Given the description of an element on the screen output the (x, y) to click on. 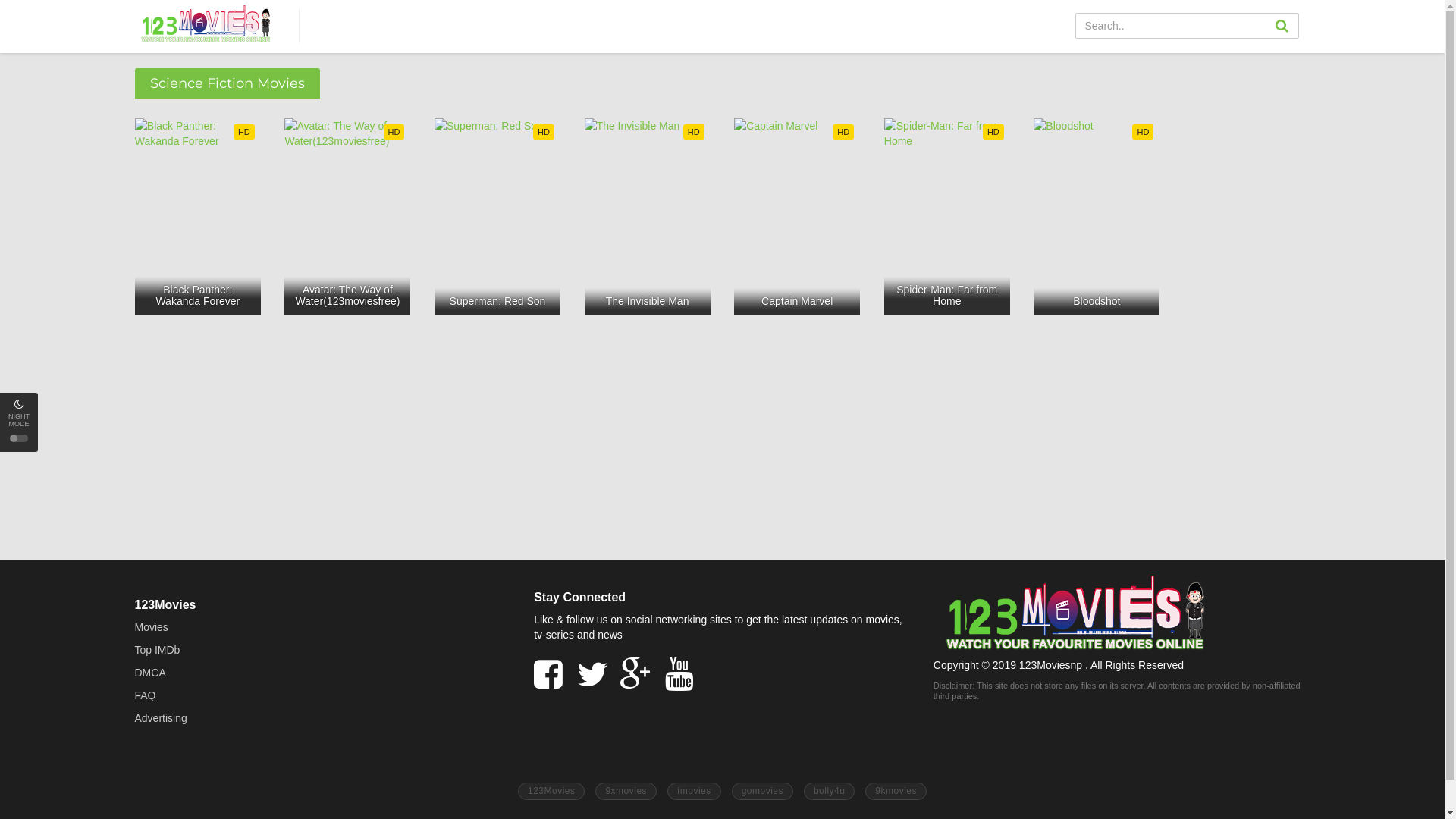
HD
Superman: Red Son Element type: text (497, 216)
123moviesnp Element type: hover (205, 23)
HD
Bloodshot Element type: text (1096, 216)
Advertising Element type: text (160, 718)
HD
Captain Marvel Element type: text (796, 216)
DMCA Element type: text (150, 672)
9xmovies Element type: text (625, 791)
bolly4u Element type: text (829, 791)
fmovies Element type: text (694, 791)
gomovies Element type: text (762, 791)
Movies Element type: text (151, 627)
HD
Black Panther: Wakanda Forever Element type: text (197, 216)
HD
Avatar: The Way of Water(123moviesfree) Element type: text (347, 216)
HD
Spider-Man: Far from Home Element type: text (947, 216)
FAQ Element type: text (145, 695)
HD
The Invisible Man Element type: text (647, 216)
Top IMDb Element type: text (157, 649)
9kmovies Element type: text (895, 791)
123Movies Element type: text (551, 791)
